Given the description of an element on the screen output the (x, y) to click on. 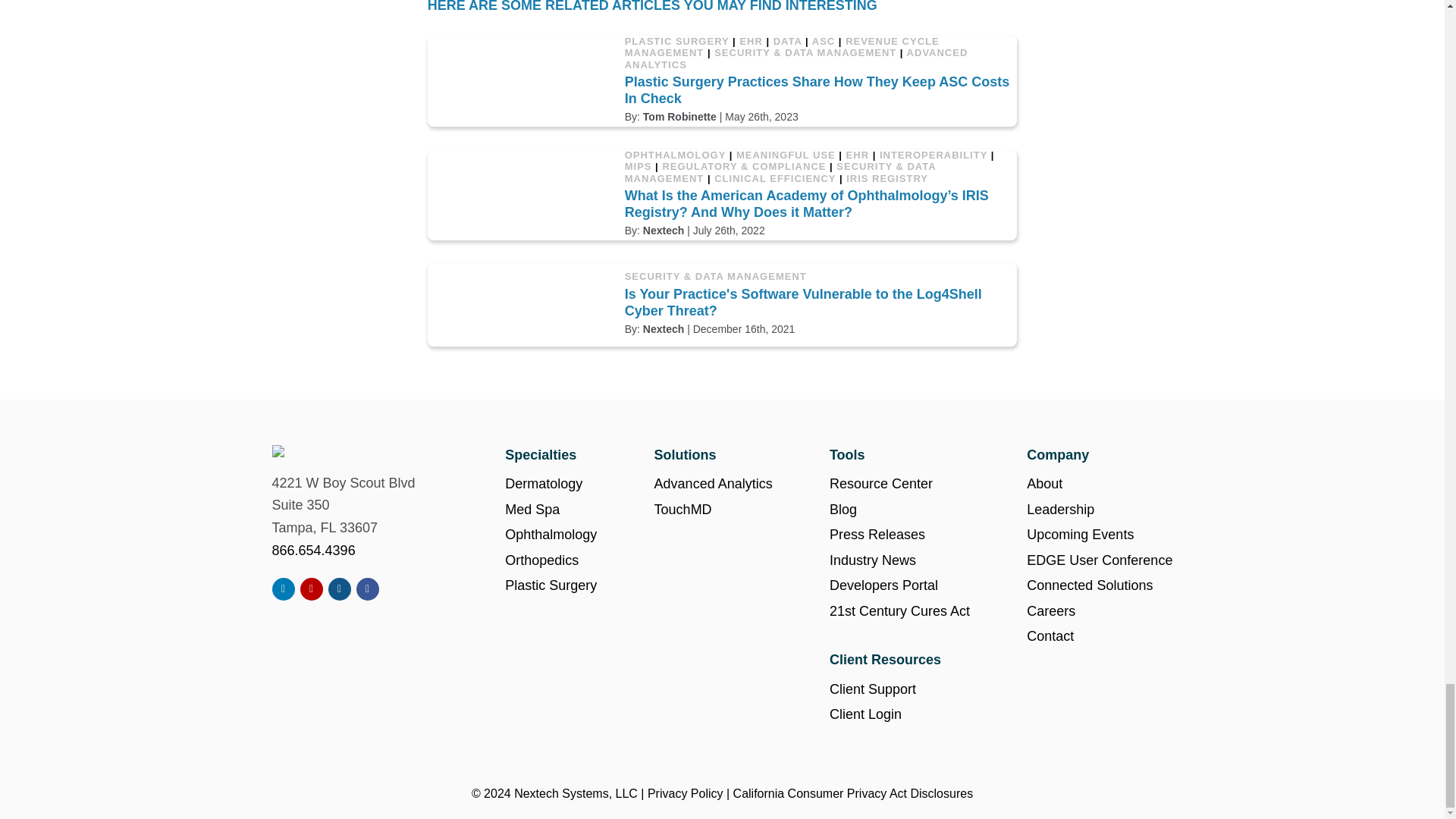
LinkedIn (283, 589)
YouTube (311, 589)
Facebook (367, 589)
Instagram (339, 589)
